Given the description of an element on the screen output the (x, y) to click on. 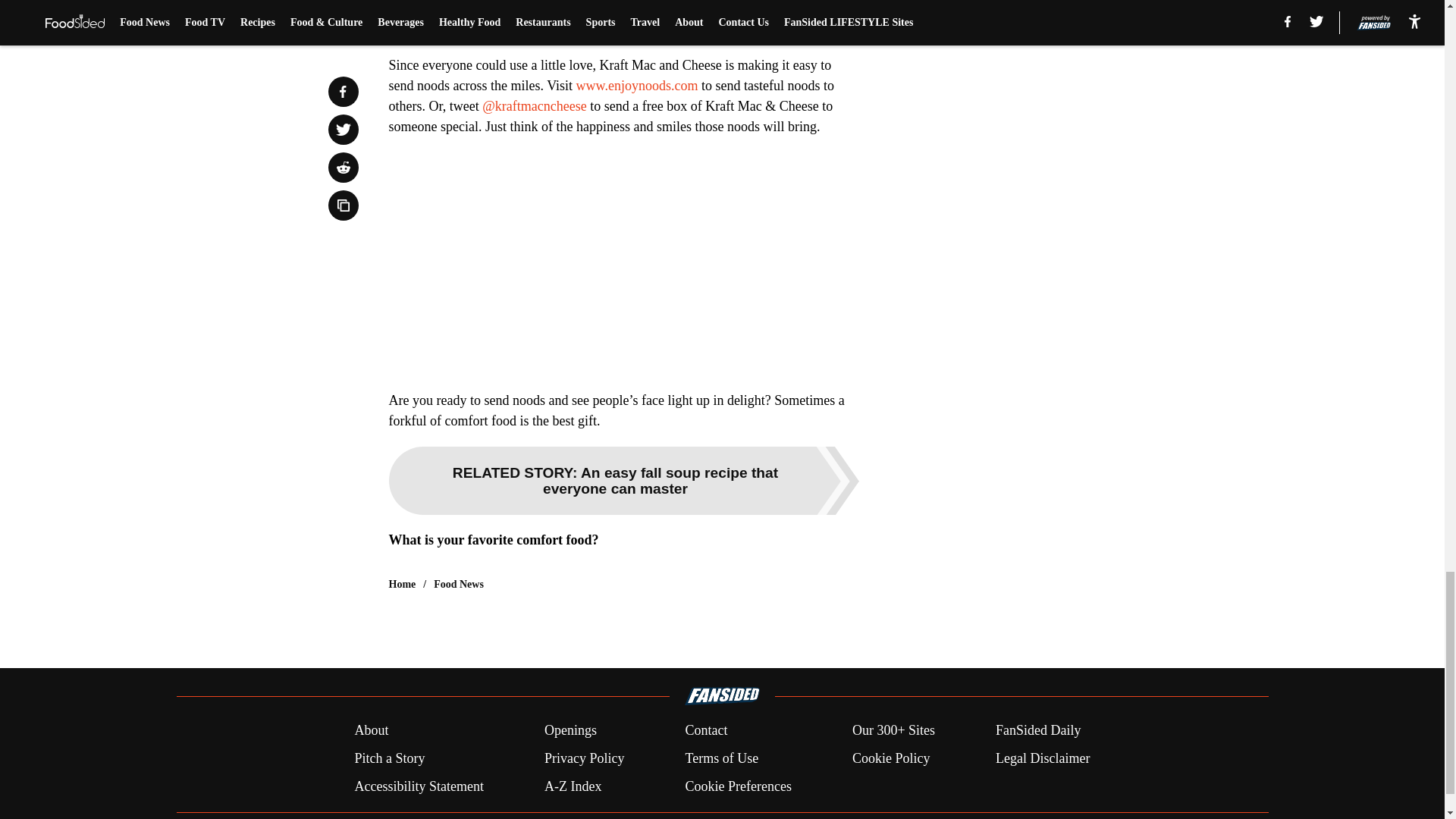
Food News (458, 584)
breakfast food (528, 8)
Openings (570, 730)
Contact (705, 730)
Pitch a Story (389, 758)
www.enjoynoods.com (637, 85)
About (370, 730)
FanSided Daily (1038, 730)
Home (401, 584)
